Given the description of an element on the screen output the (x, y) to click on. 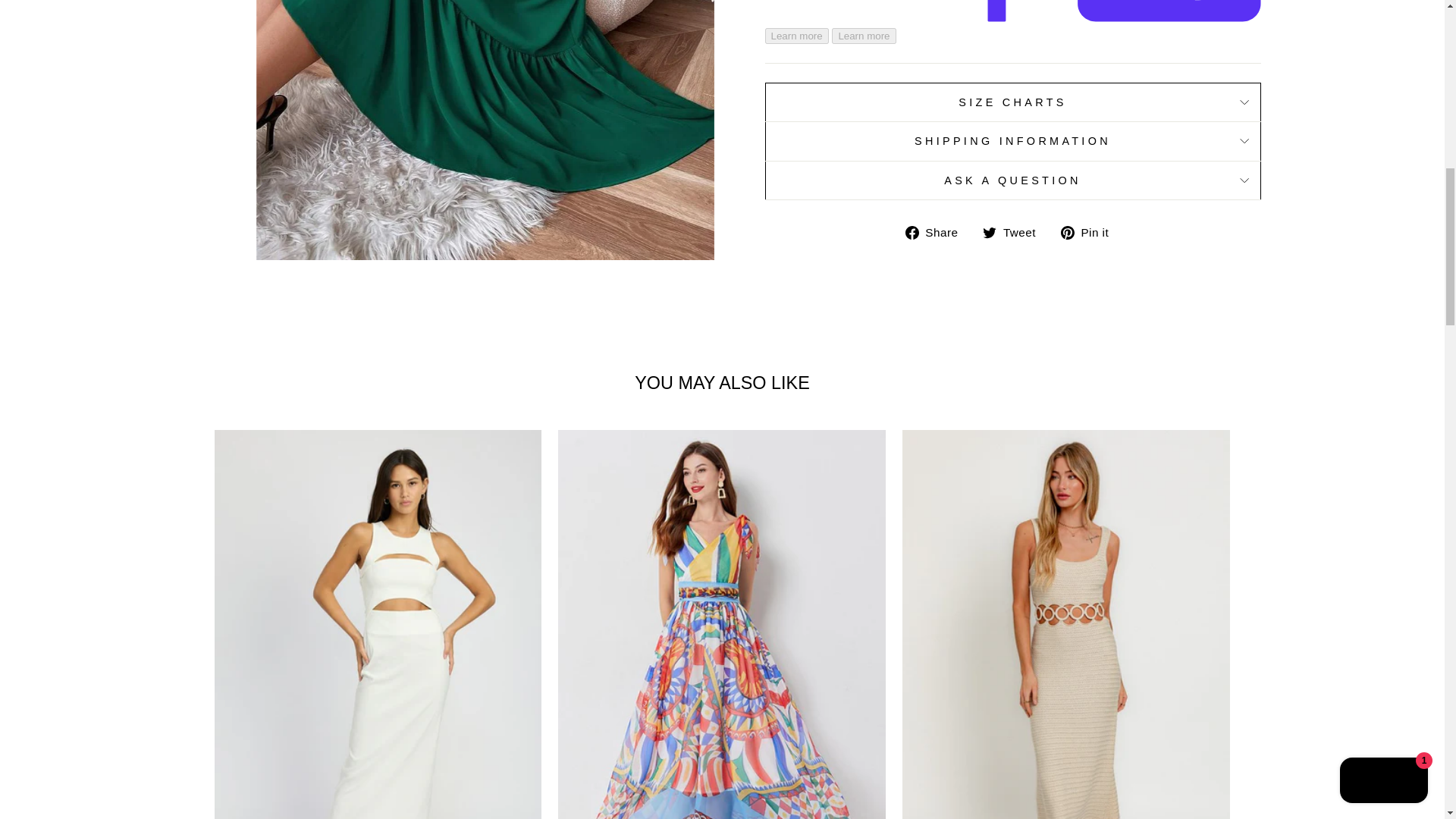
Pin on Pinterest (1090, 231)
Share on Facebook (937, 231)
Tweet on Twitter (1014, 231)
